Given the description of an element on the screen output the (x, y) to click on. 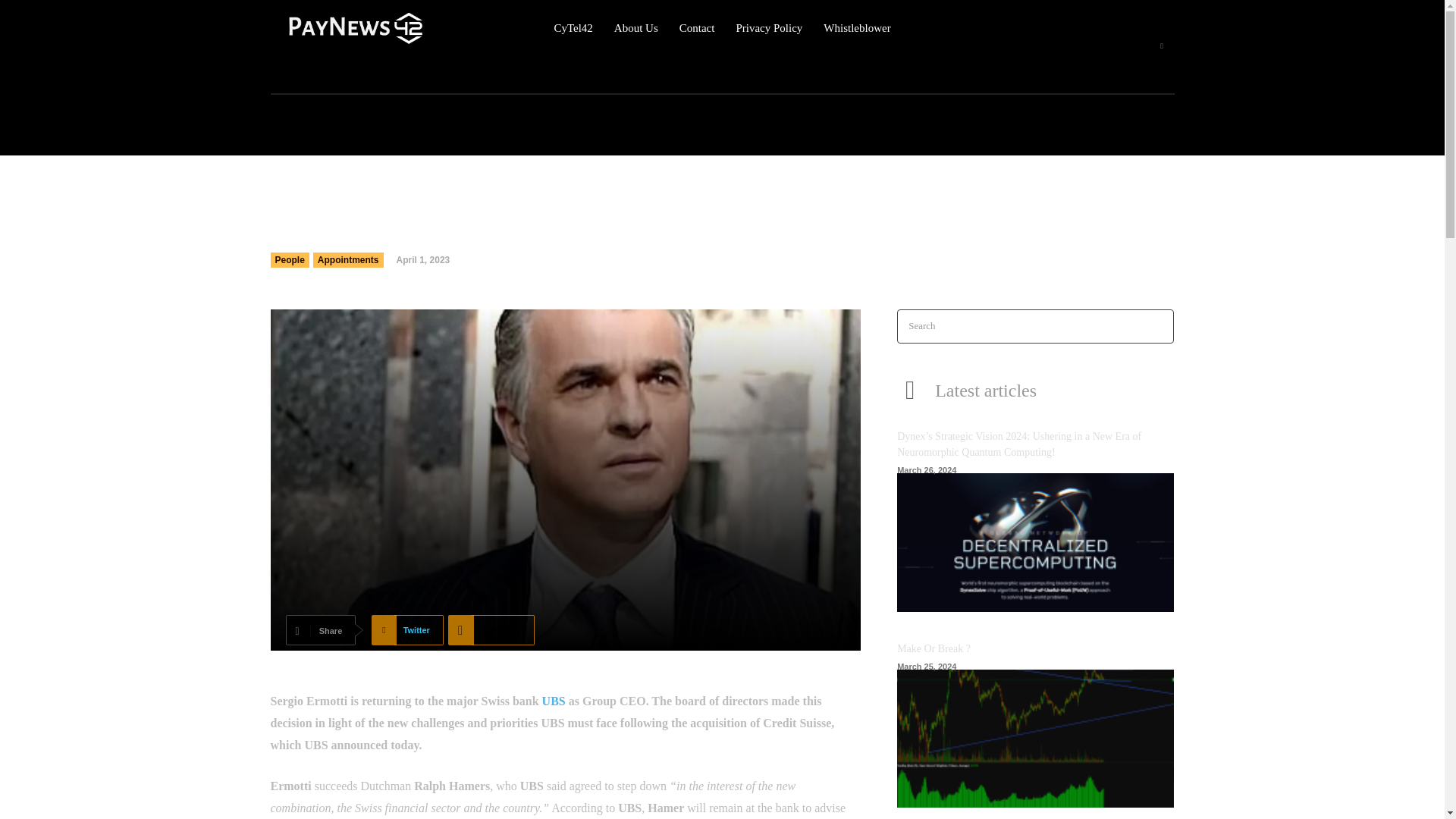
Twitter (407, 630)
Twitter (407, 630)
Whistleblower (856, 28)
Privacy Policy (768, 28)
Make Or Break ? (1034, 738)
People (288, 259)
Make Or Break ? (933, 648)
Twitter (1162, 46)
UBS (553, 700)
Appointments (348, 259)
Copy URL (491, 630)
Copy URL (491, 630)
Make Or Break ? (933, 648)
